Given the description of an element on the screen output the (x, y) to click on. 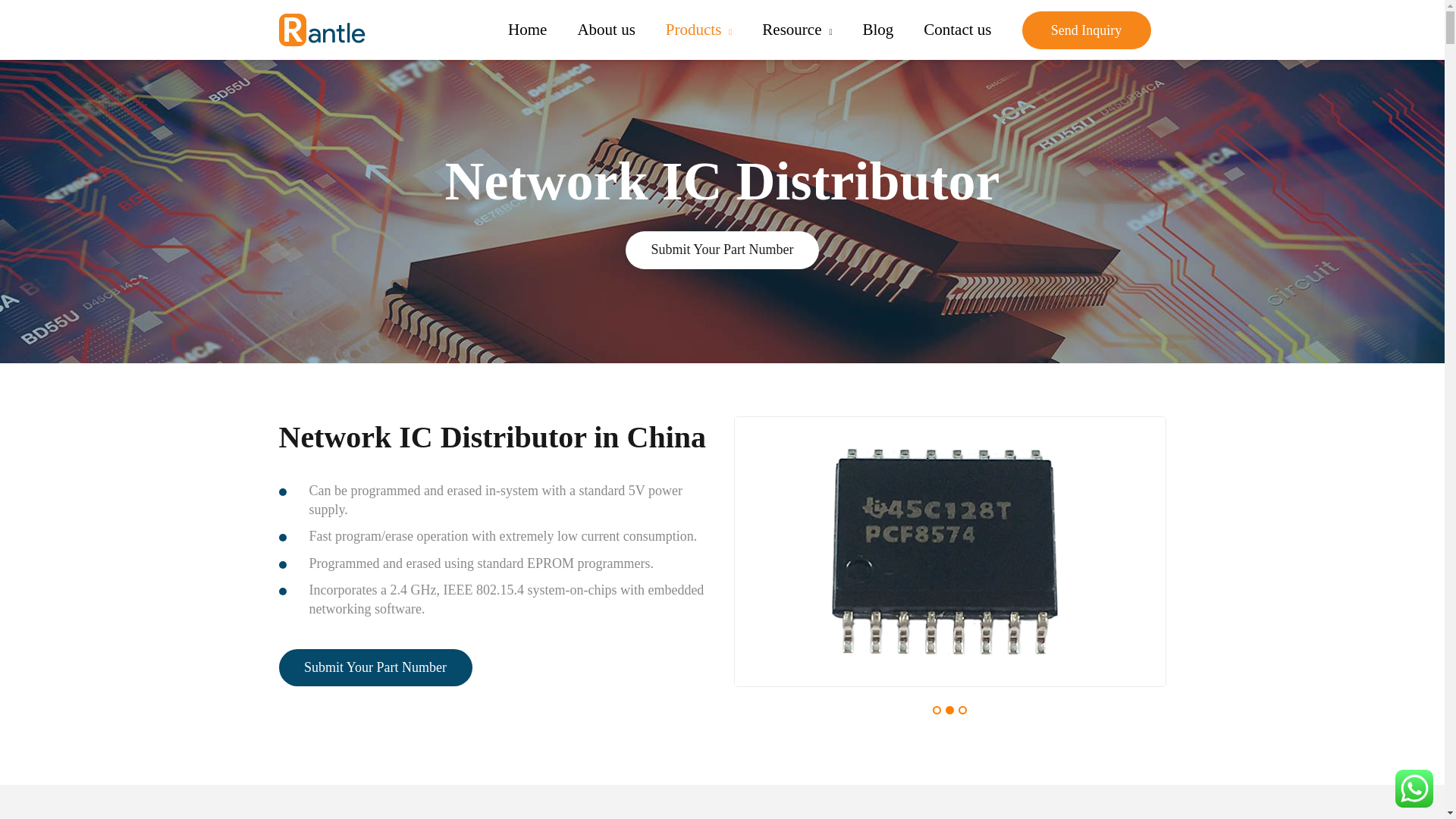
Products (698, 29)
About us (605, 29)
Home (527, 29)
